Given the description of an element on the screen output the (x, y) to click on. 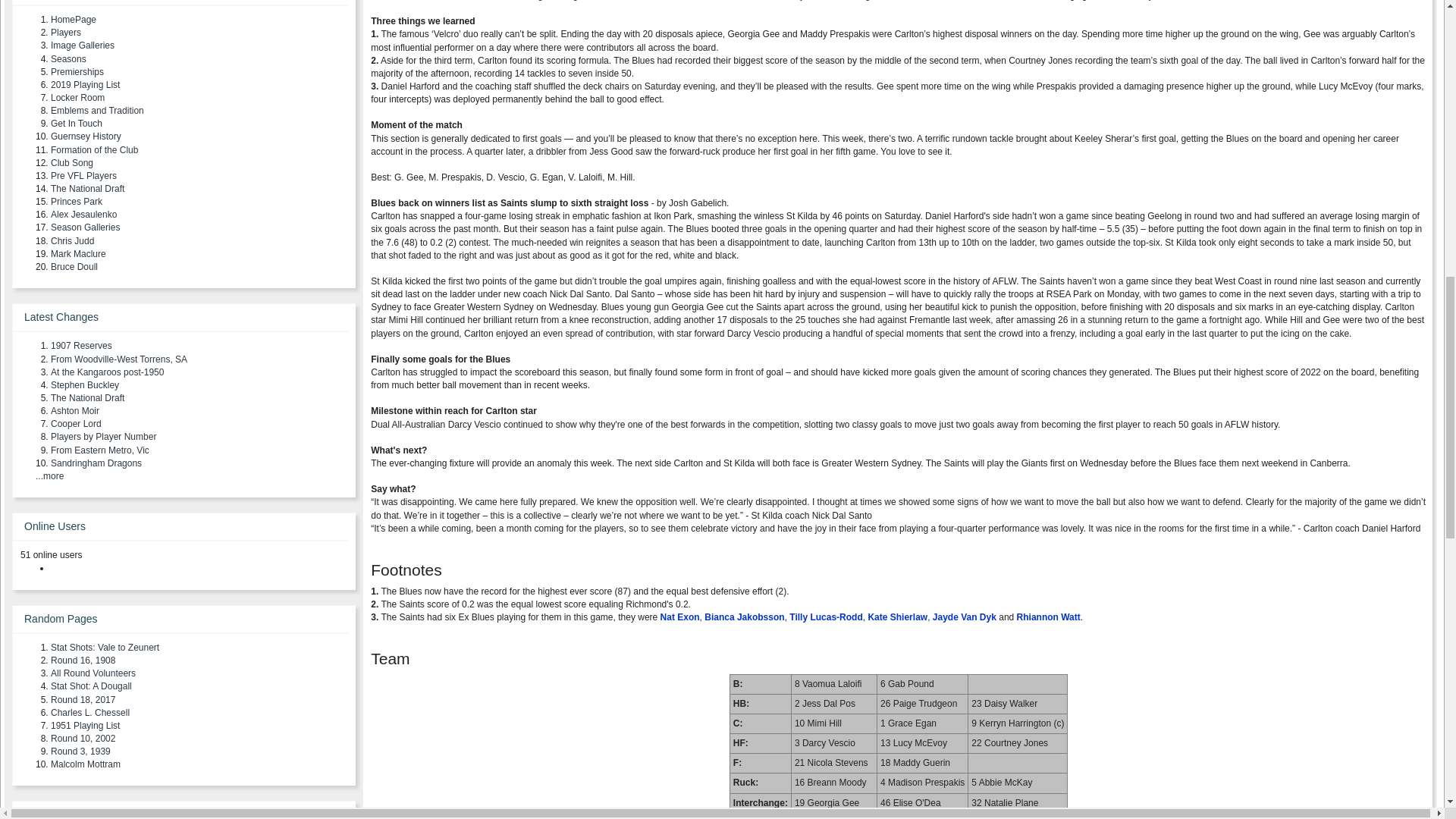
Bianca Jakobsson (744, 616)
Jayde Van Dyk (964, 616)
Tilly Lucas-Rodd (825, 616)
Nat Exon (680, 616)
Rhiannon Watt (1048, 616)
Jess Good (916, 818)
Keeley Sherar (837, 818)
Kate Shierlaw (897, 616)
